Given the description of an element on the screen output the (x, y) to click on. 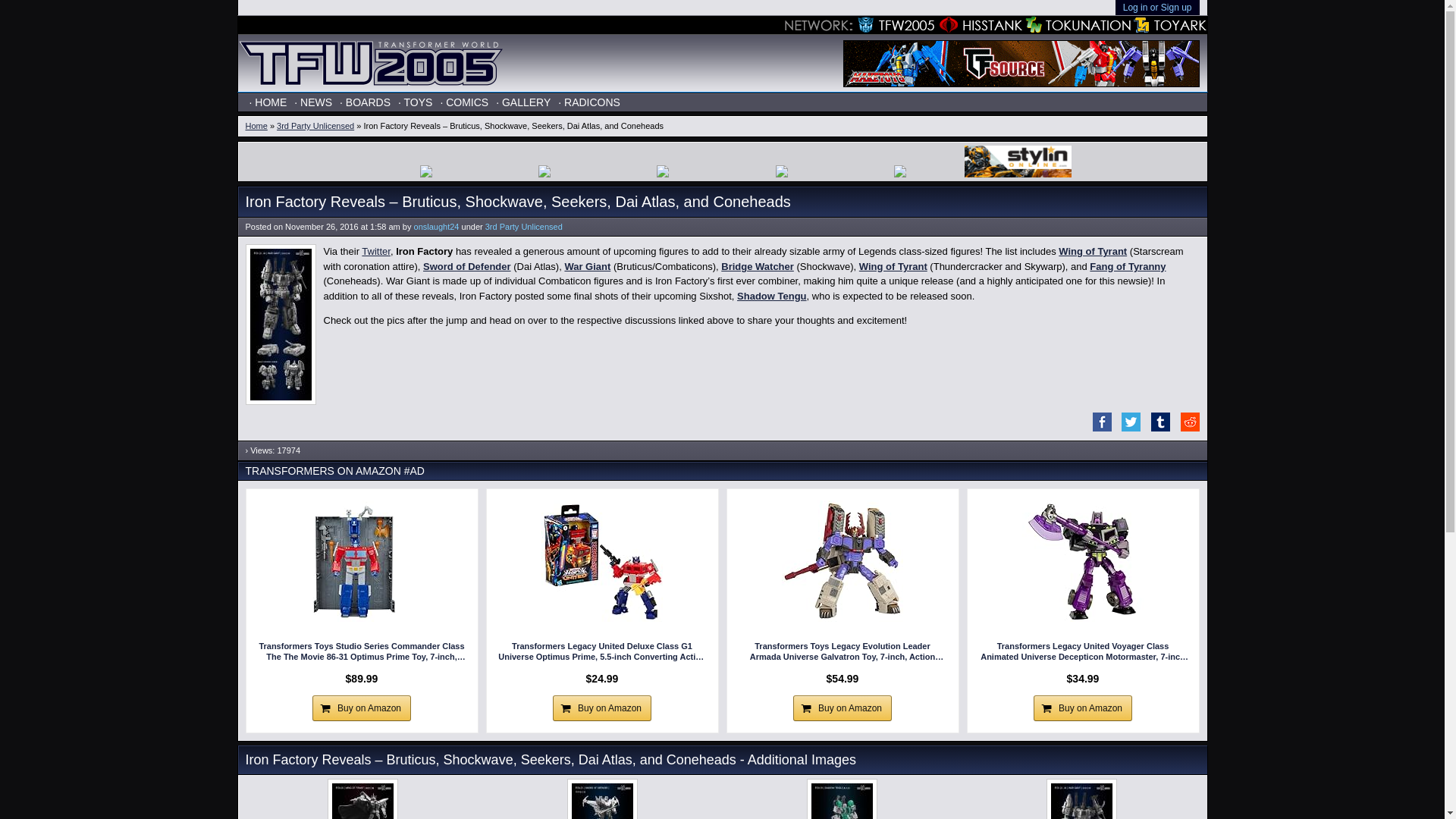
Post to tumblr (1156, 428)
Buy on Amazon (842, 708)
Buy on Amazon (601, 708)
Log in or Sign up (1157, 7)
Transformer World 2005 - TFW2005.COM (370, 88)
COMICS (463, 102)
Visit HissTank.com for G.I. Joe (978, 25)
Share with friends on Facebook (1098, 428)
TFSource (1021, 63)
Visit TFW2005.com for Transformers (891, 25)
TOYS (414, 102)
Buy on Amazon (361, 708)
